Given the description of an element on the screen output the (x, y) to click on. 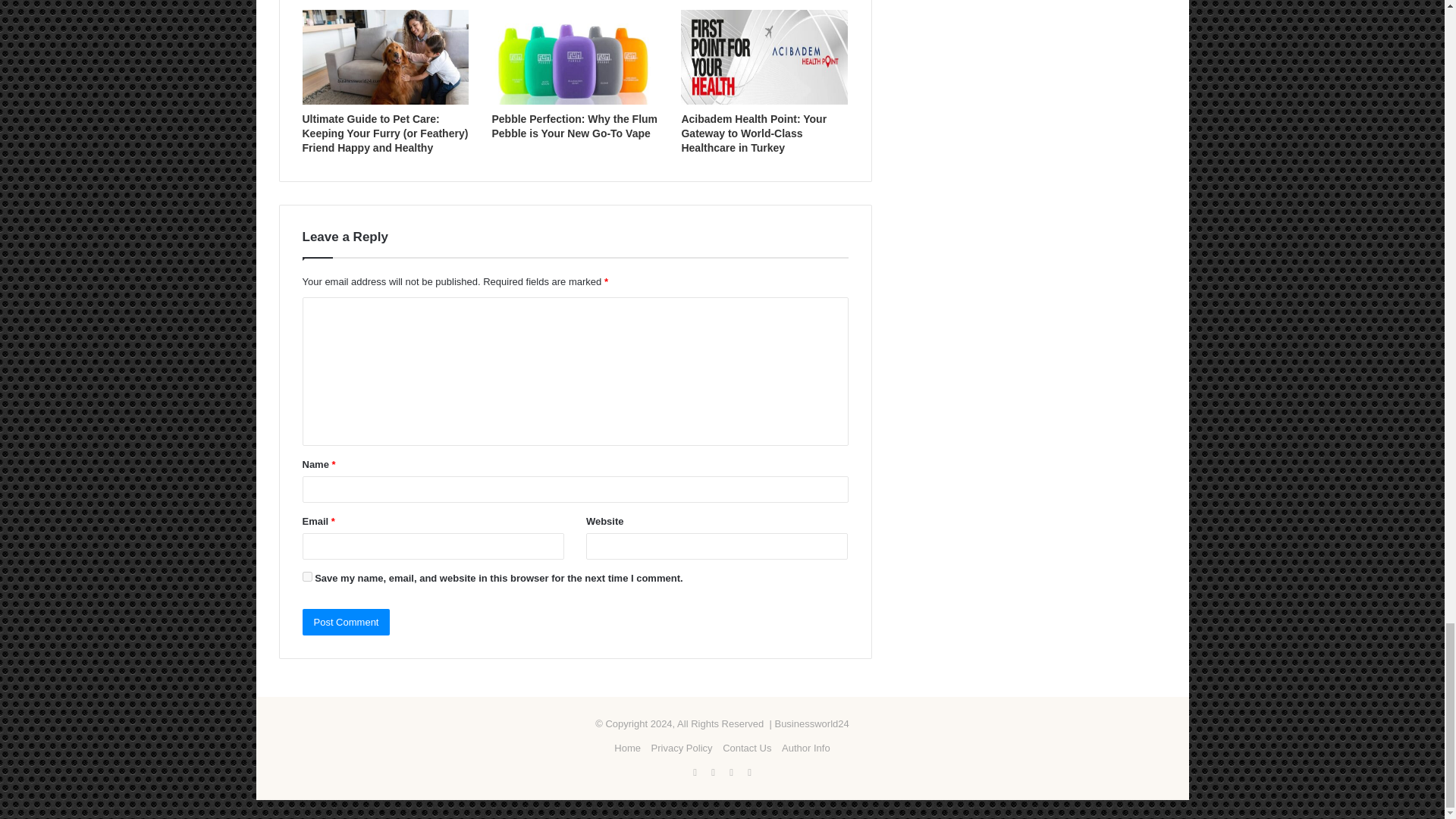
Post Comment (345, 622)
yes (306, 576)
